Given the description of an element on the screen output the (x, y) to click on. 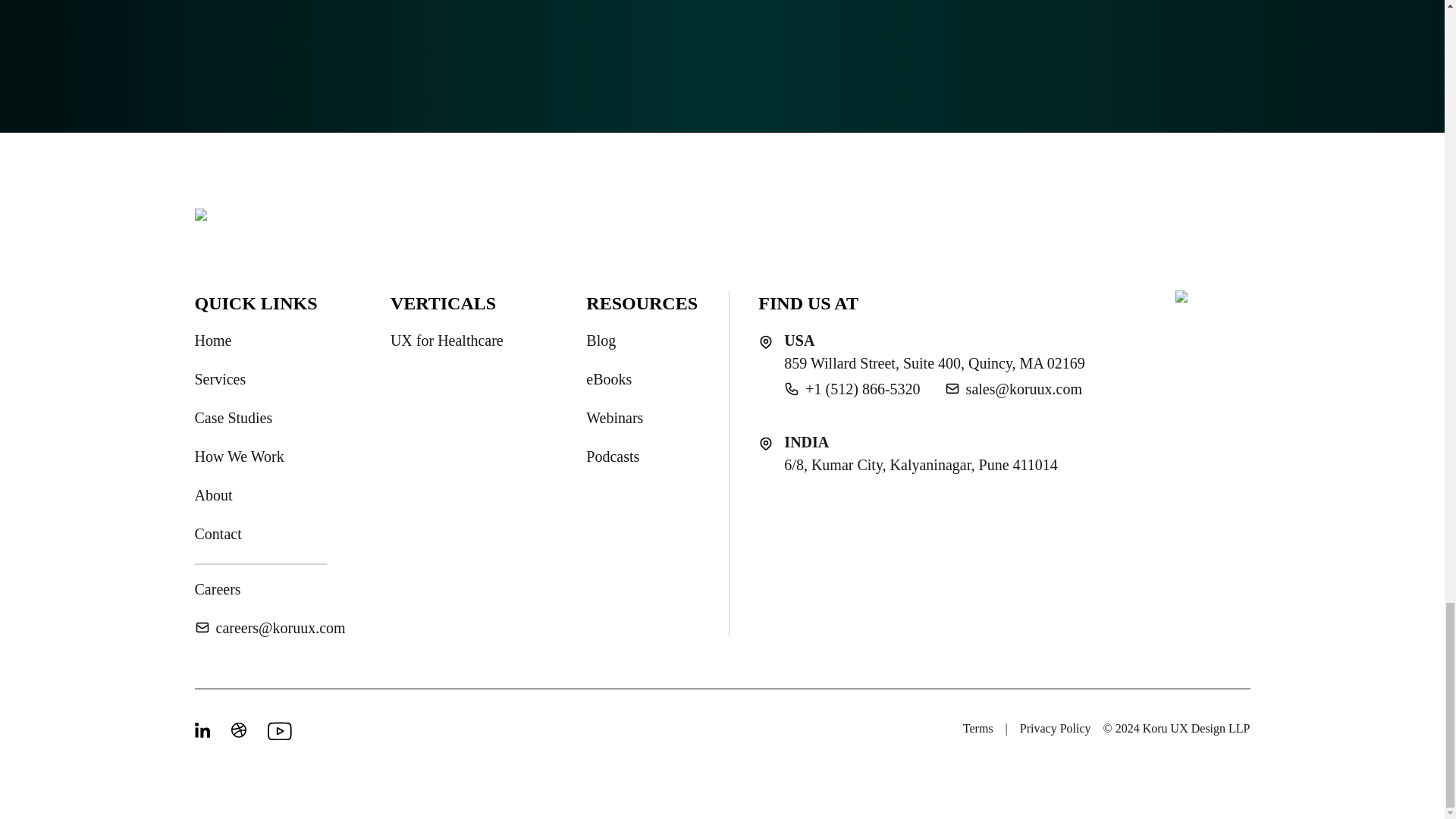
Services (219, 379)
Home (212, 340)
About (212, 495)
UX for Healthcare (446, 340)
Terms (977, 728)
How We Work (238, 456)
Visit our dribble page (239, 730)
eBooks (608, 379)
Visit our YouTube channel (275, 730)
Webinars (614, 417)
